Given the description of an element on the screen output the (x, y) to click on. 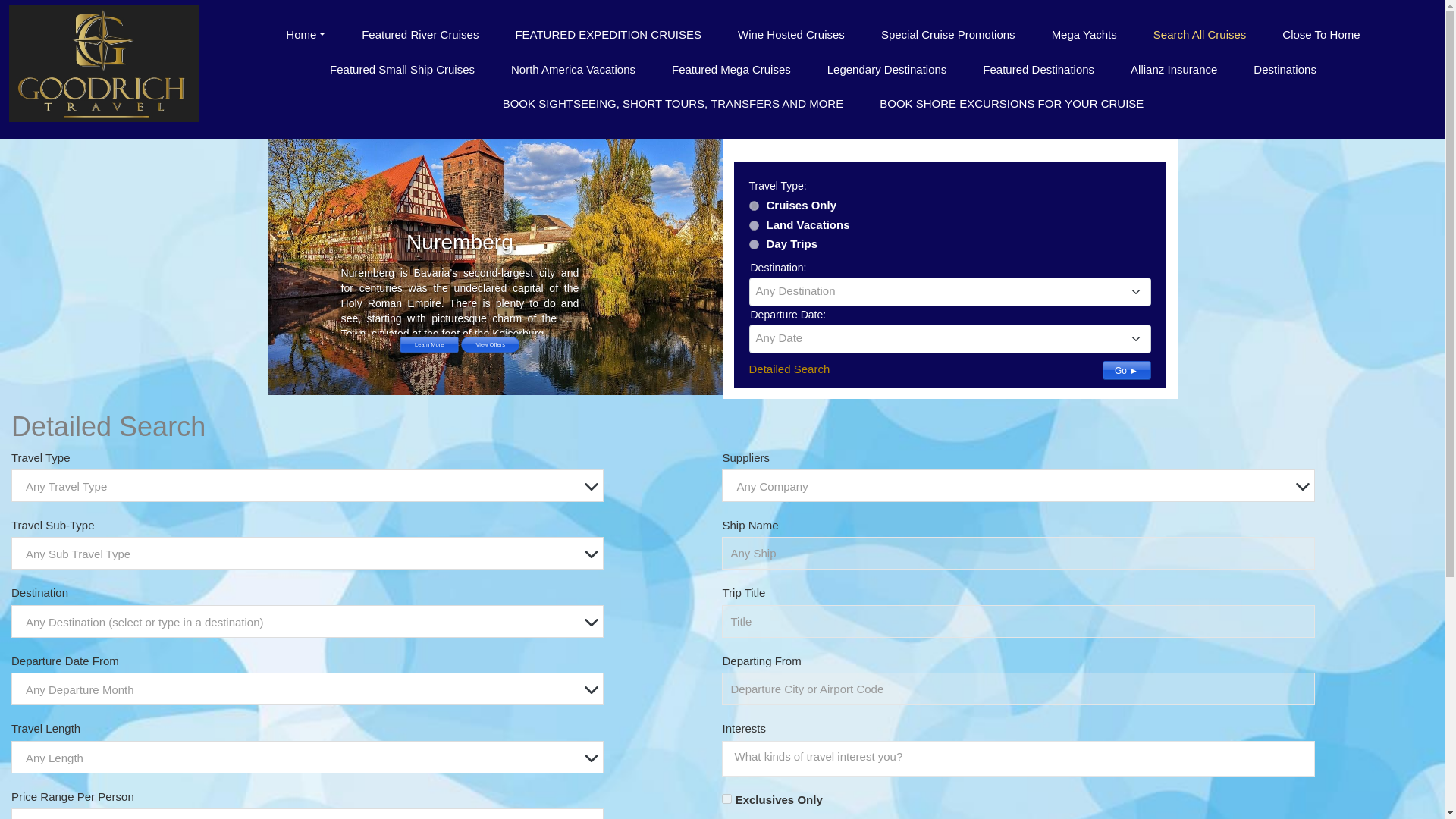
Featured River Cruises (419, 34)
Featured Mega Cruises (731, 69)
Destinations (1284, 69)
Featured Small Ship Cruises (402, 69)
Wine Hosted Cruises (791, 34)
Allianz Insurance (1173, 69)
Home (305, 34)
BOOK SHORE EXCURSIONS FOR YOUR CRUISE (1011, 103)
North America Vacations (573, 69)
Mega Yachts (1084, 34)
